Given the description of an element on the screen output the (x, y) to click on. 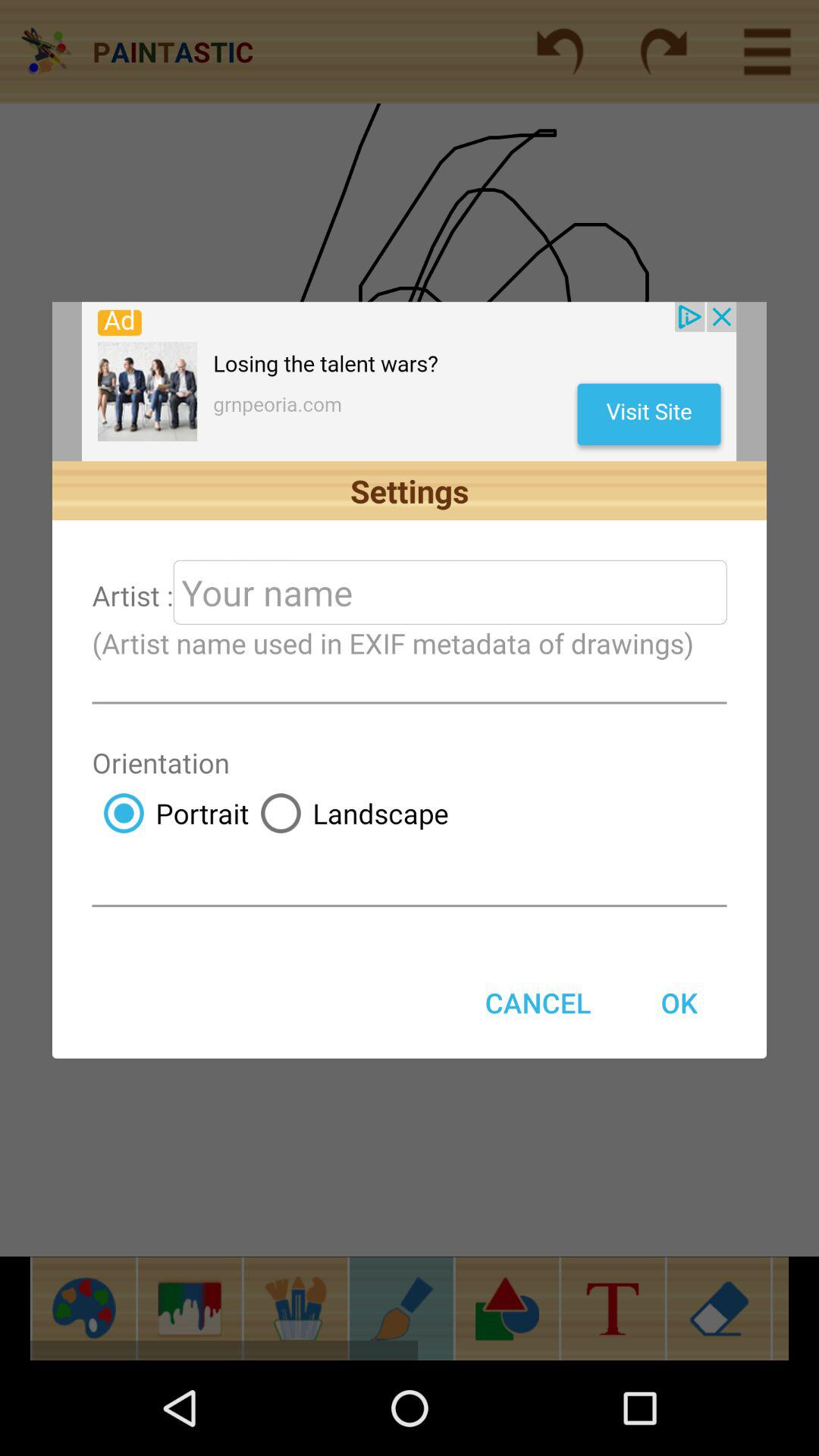
go to advertisement (408, 381)
